Given the description of an element on the screen output the (x, y) to click on. 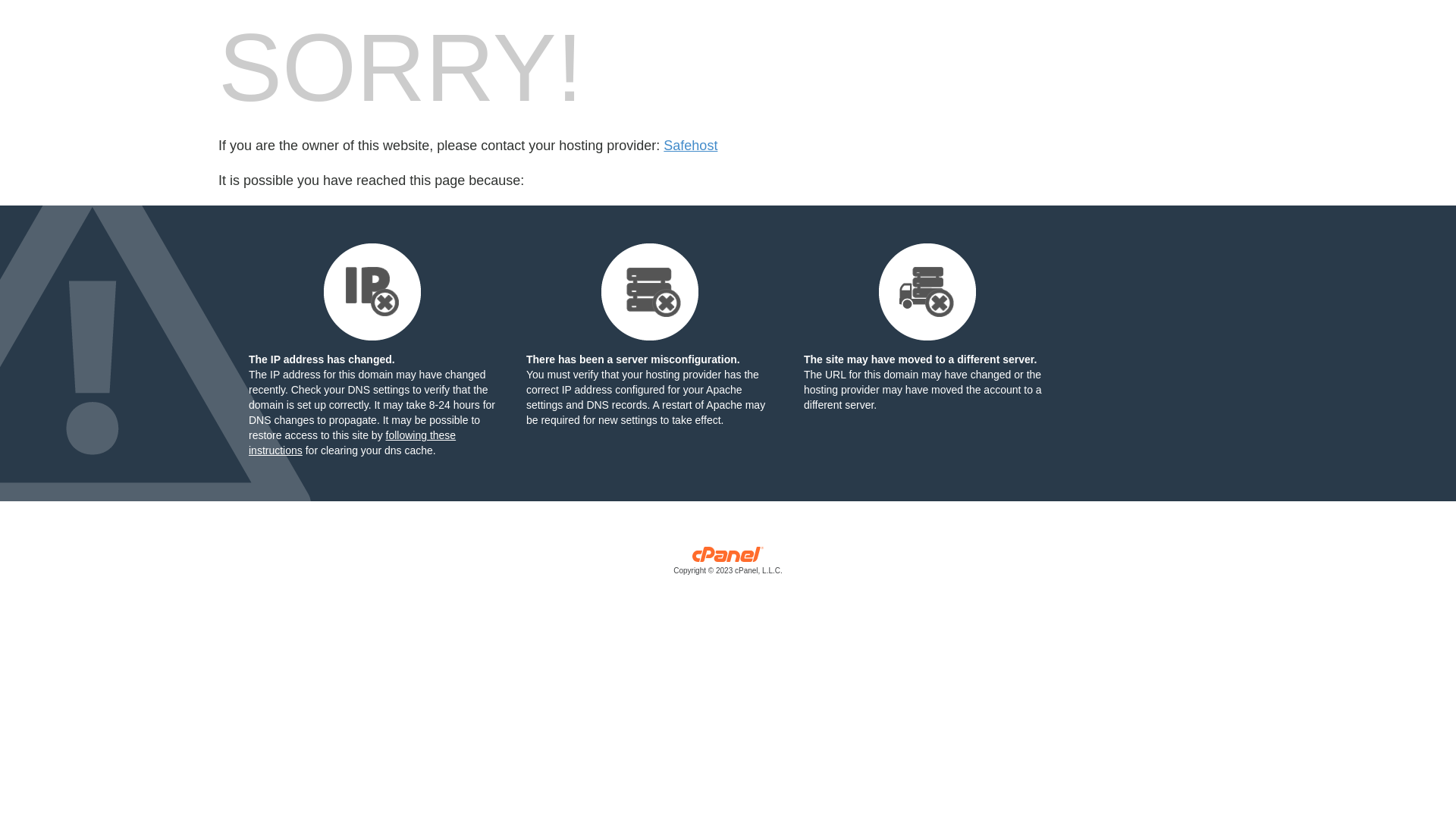
following these instructions Element type: text (351, 442)
Safehost Element type: text (690, 145)
